Given the description of an element on the screen output the (x, y) to click on. 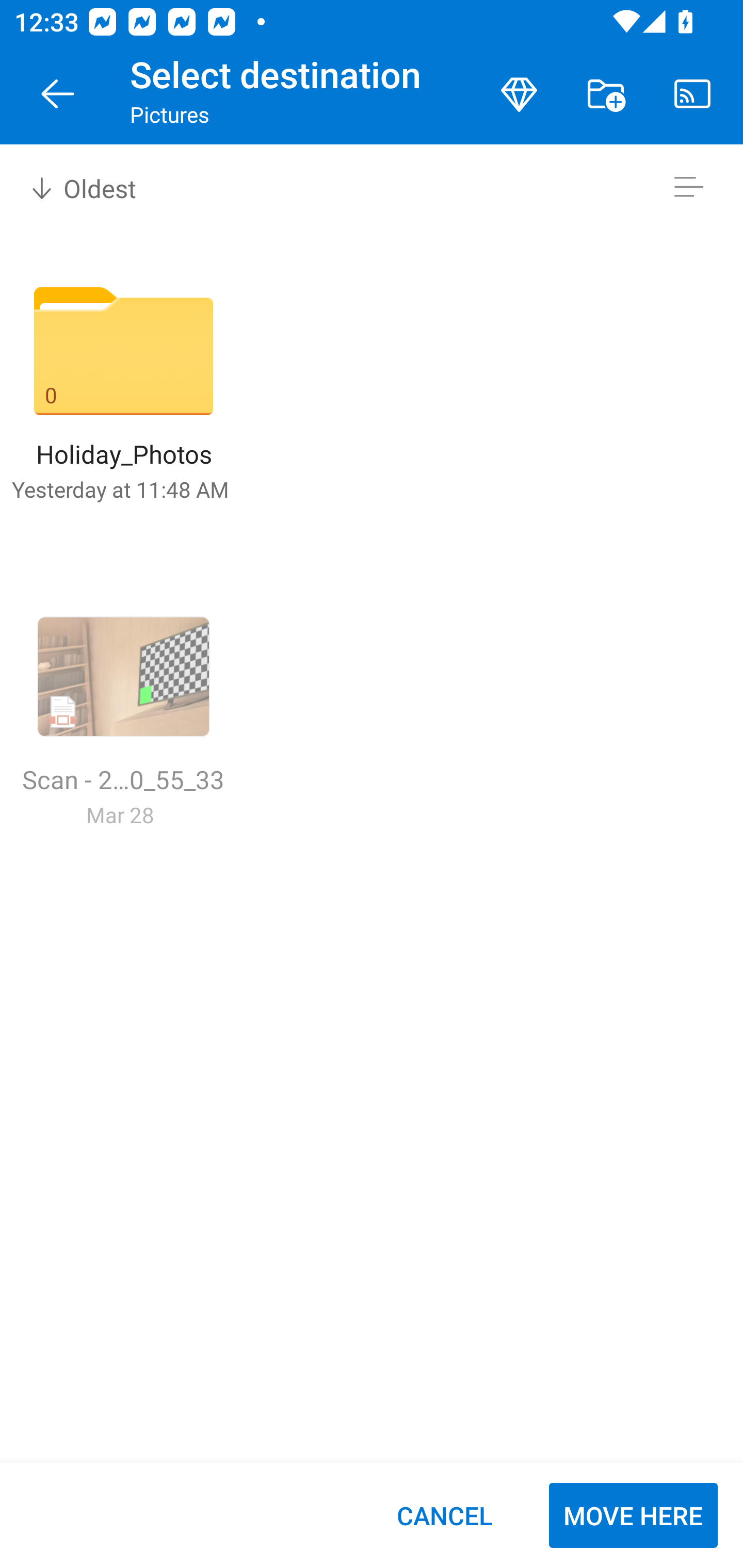
Navigate Up (57, 93)
Cast. Disconnected (692, 93)
Premium button (518, 93)
More actions button (605, 93)
Oldest Sort by combo box, sort by oldest (80, 187)
Switch to list view (688, 187)
Yesterday at 11:48 AM (119, 489)
Document Scan - 2024-03-28 10_55_33 Mar 28 (123, 714)
Mar 28 (120, 814)
CANCEL (443, 1515)
MOVE HERE (633, 1515)
